Given the description of an element on the screen output the (x, y) to click on. 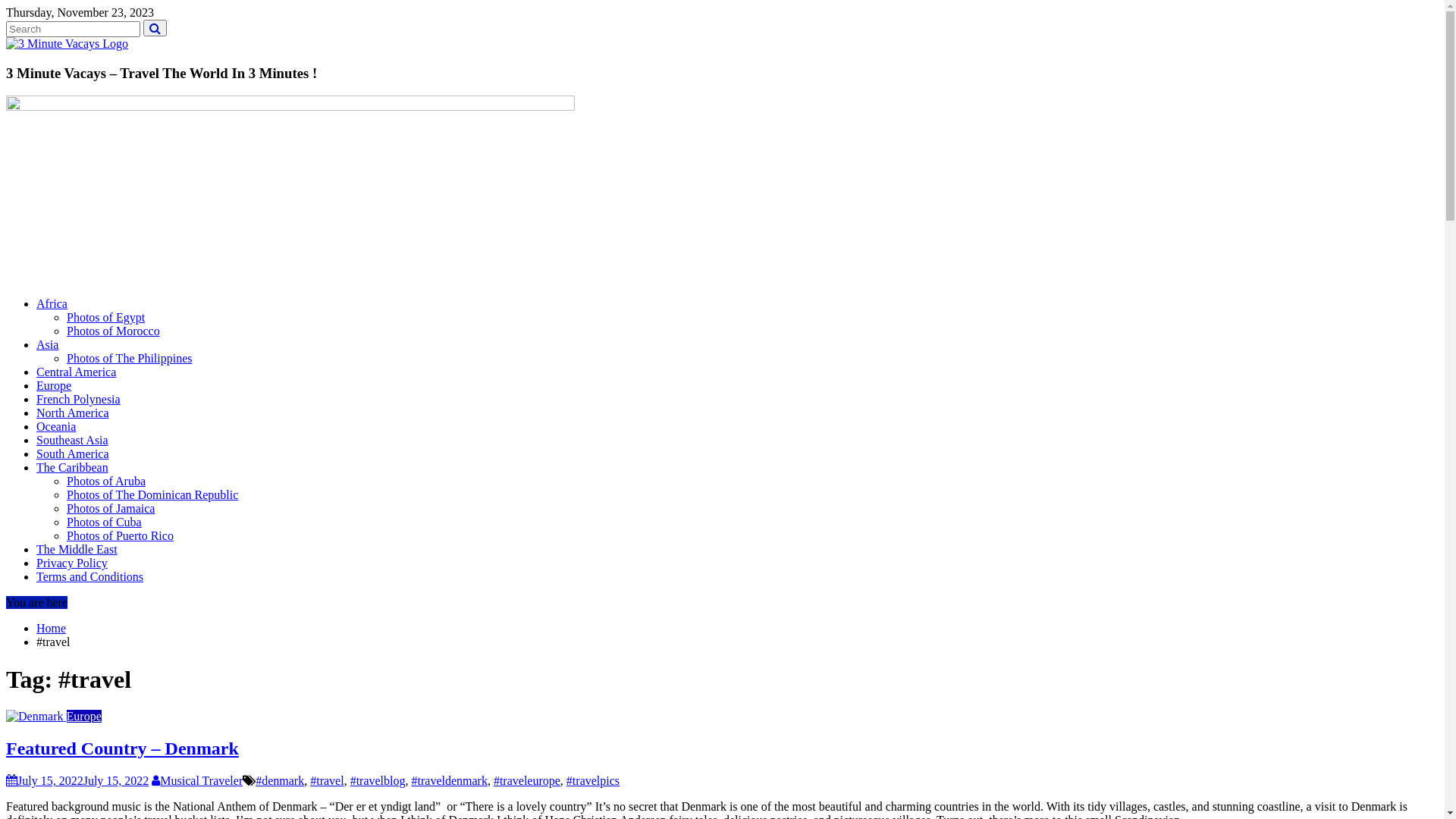
Oceania Element type: text (55, 426)
Photos of The Philippines Element type: text (129, 357)
#travelpics Element type: text (592, 780)
Europe Element type: text (53, 385)
Photos of Aruba Element type: text (105, 480)
Africa Element type: text (51, 303)
July 15, 2022July 15, 2022 Element type: text (77, 780)
Central America Element type: text (76, 371)
Europe Element type: text (83, 715)
Photos of Morocco Element type: text (113, 330)
Photos of Puerto Rico Element type: text (119, 535)
The Middle East Element type: text (76, 548)
Asia Element type: text (47, 344)
Photos of The Dominican Republic Element type: text (152, 494)
Terms and Conditions Element type: text (89, 576)
Home Element type: text (50, 627)
#denmark Element type: text (279, 780)
#travel Element type: text (326, 780)
North America Element type: text (72, 412)
Musical Traveler Element type: text (196, 780)
Southeast Asia Element type: text (72, 439)
Photos of Jamaica Element type: text (110, 508)
#traveleurope Element type: text (526, 780)
Photos of Egypt Element type: text (105, 316)
Skip to content Element type: text (5, 5)
South America Element type: text (72, 453)
Privacy Policy Element type: text (71, 562)
#traveldenmark Element type: text (448, 780)
Photos of Cuba Element type: text (103, 521)
#travelblog Element type: text (377, 780)
The Caribbean Element type: text (72, 467)
French Polynesia Element type: text (78, 398)
